Given the description of an element on the screen output the (x, y) to click on. 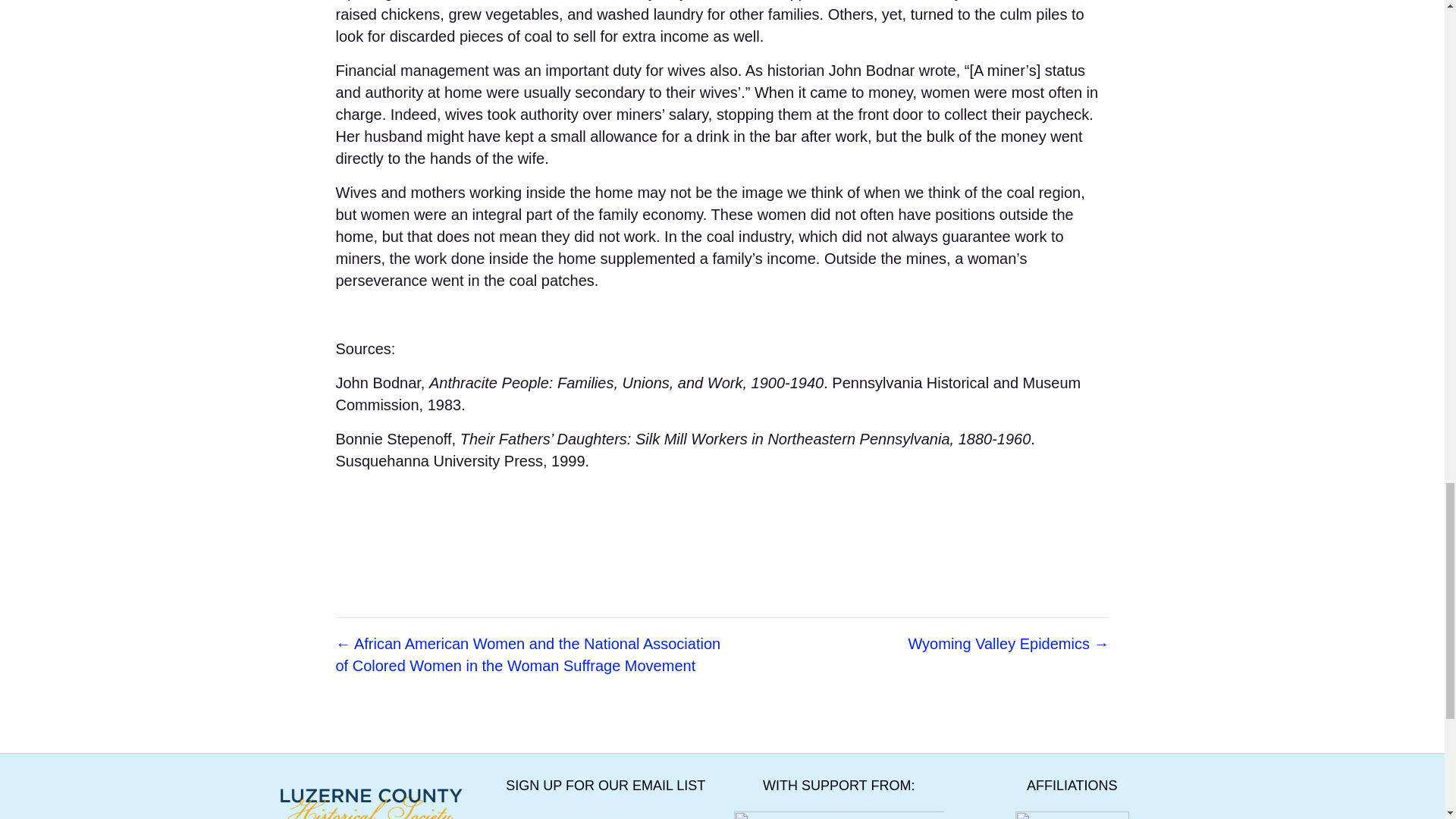
Affiliations (1071, 814)
